Given the description of an element on the screen output the (x, y) to click on. 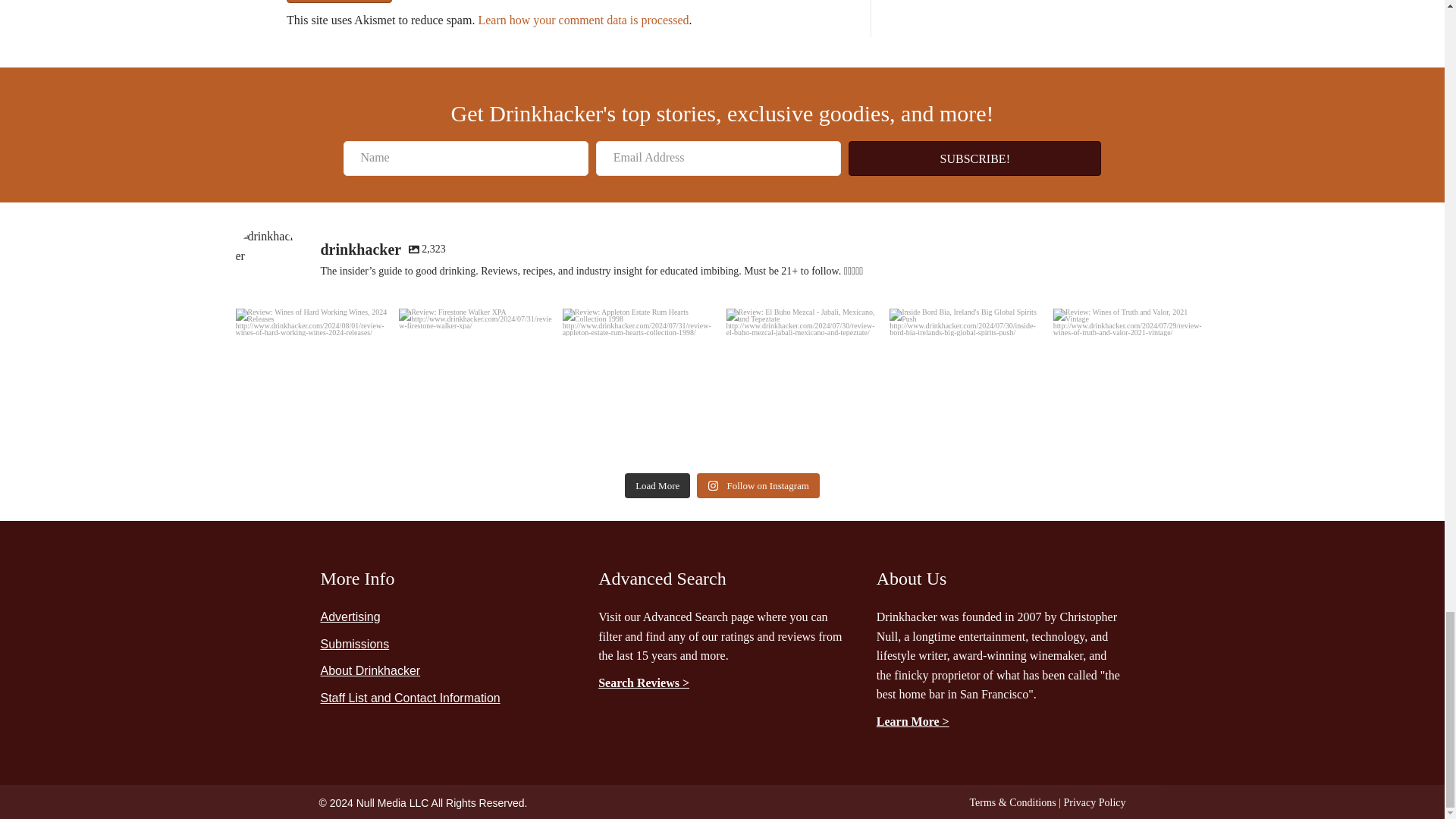
Submit Comment (338, 1)
